Given the description of an element on the screen output the (x, y) to click on. 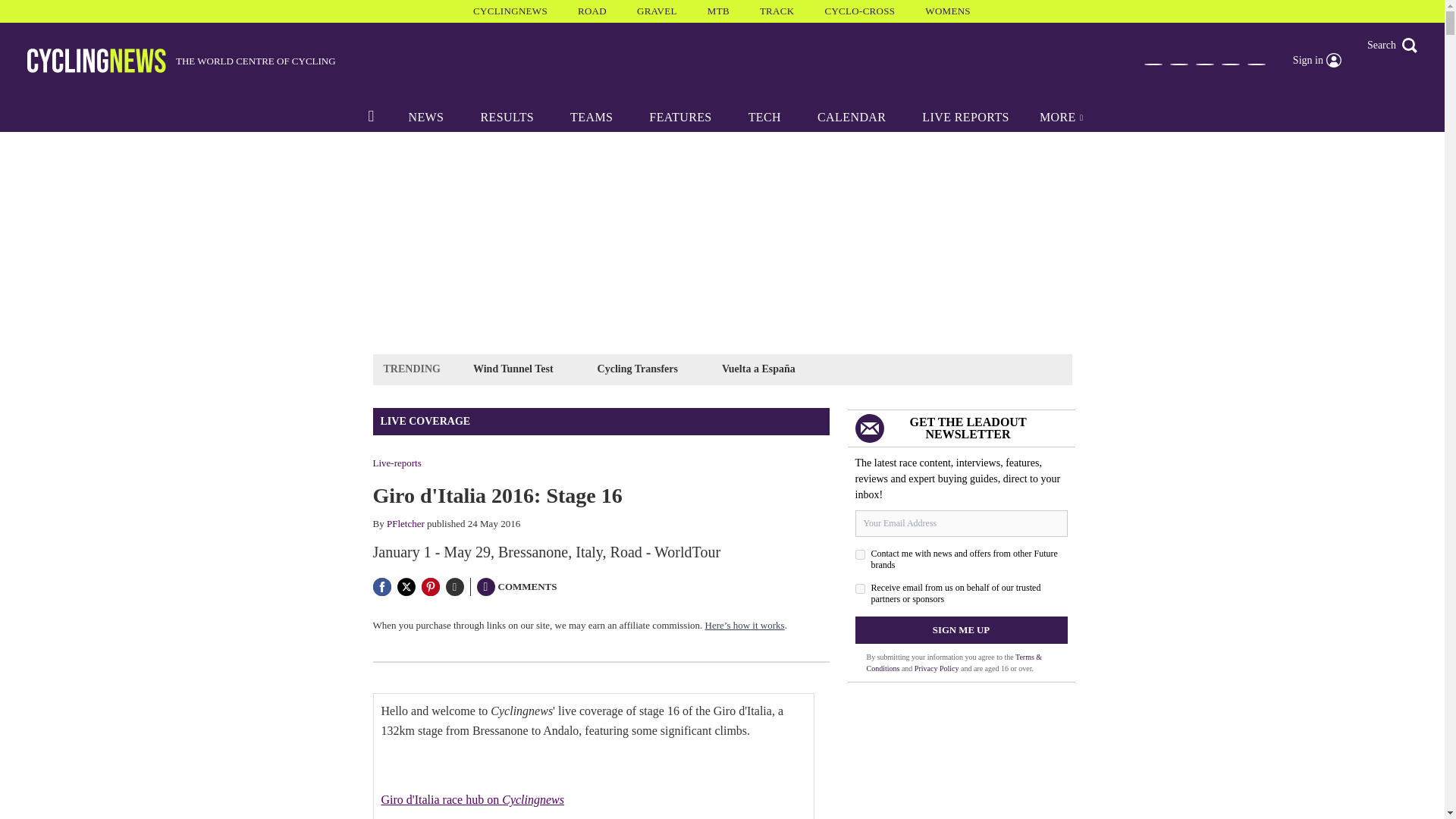
TEAMS (590, 117)
Cycling Transfers (637, 368)
TECH (764, 117)
Live-reports (397, 462)
MTB (718, 10)
PFletcher (406, 523)
TRACK (777, 10)
RESULTS (506, 117)
THE WORLD CENTRE OF CYCLING (181, 60)
Sign me up (961, 629)
